Given the description of an element on the screen output the (x, y) to click on. 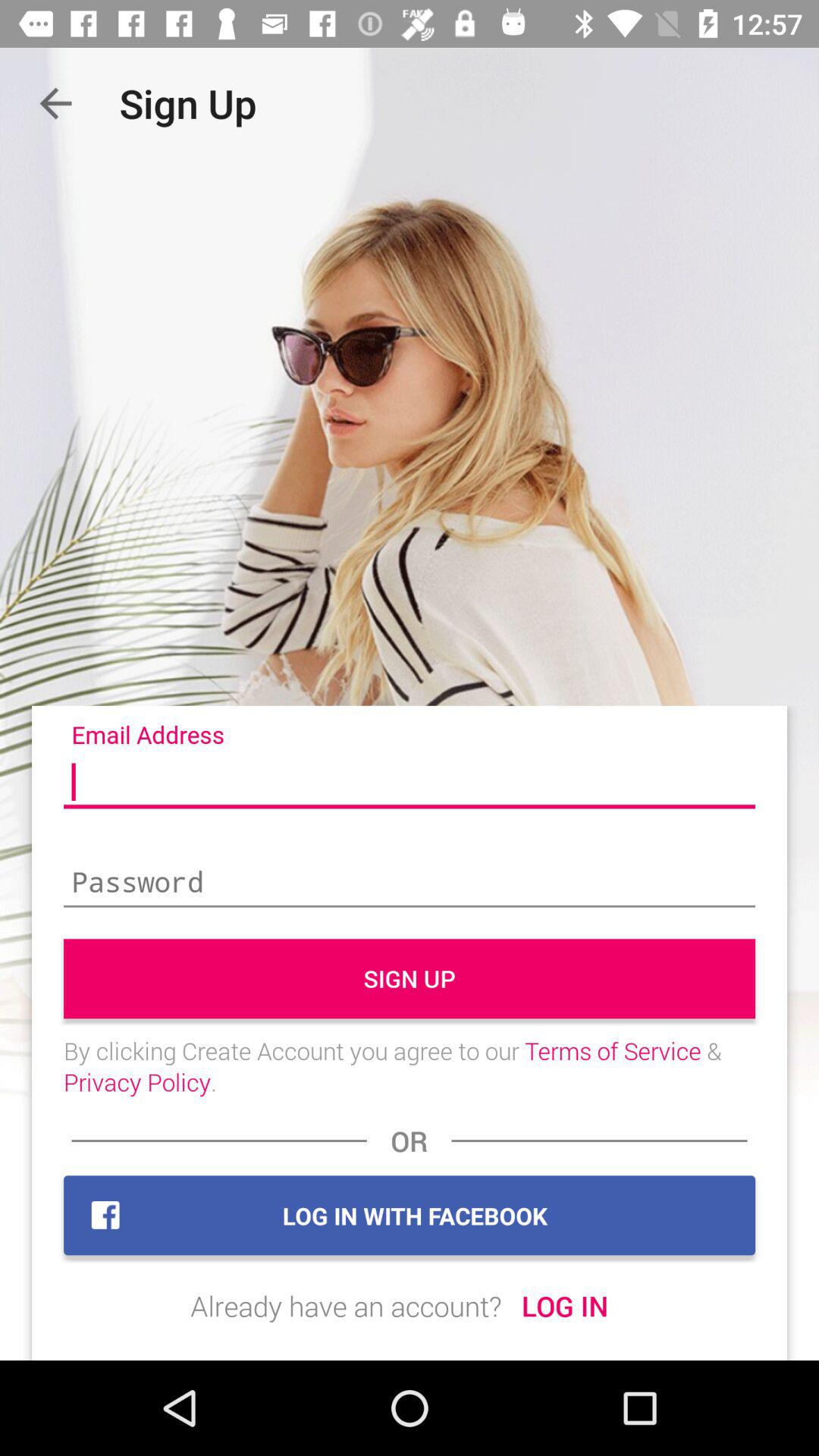
enter e-mail address (409, 782)
